Given the description of an element on the screen output the (x, y) to click on. 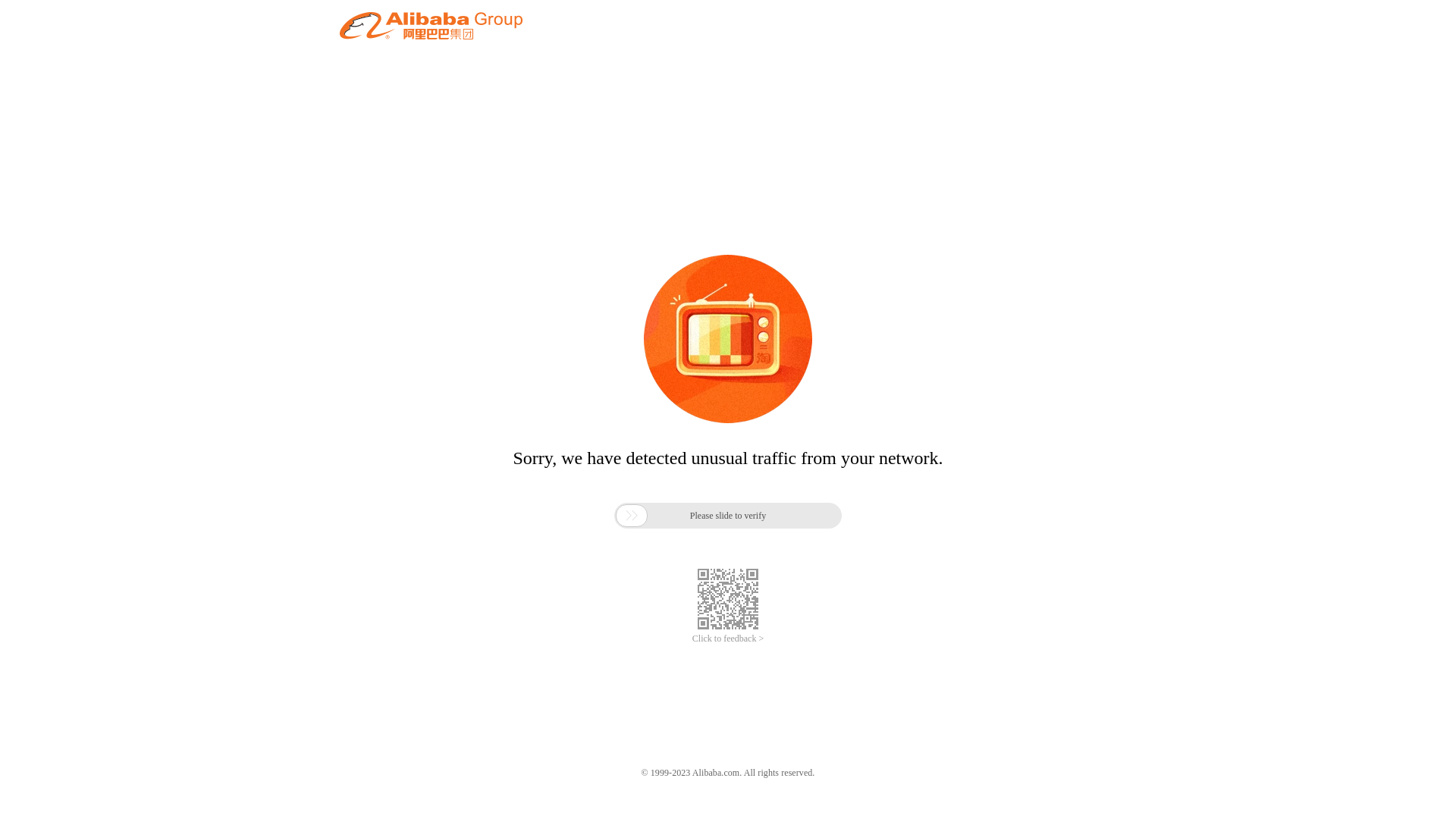
Click to feedback > Element type: text (727, 638)
